Given the description of an element on the screen output the (x, y) to click on. 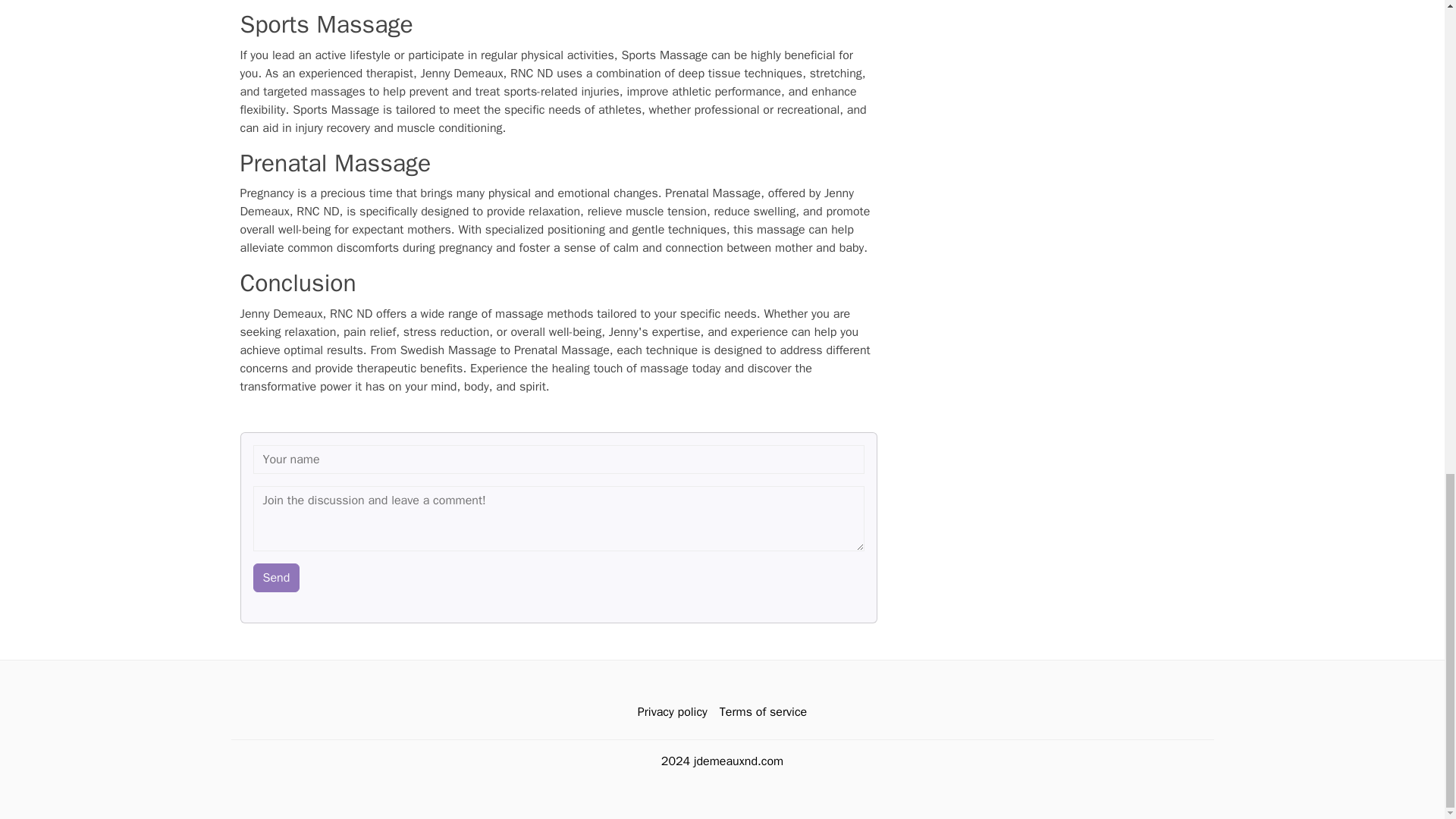
Terms of service (762, 711)
Send (276, 576)
Privacy policy (672, 711)
Send (276, 576)
